Given the description of an element on the screen output the (x, y) to click on. 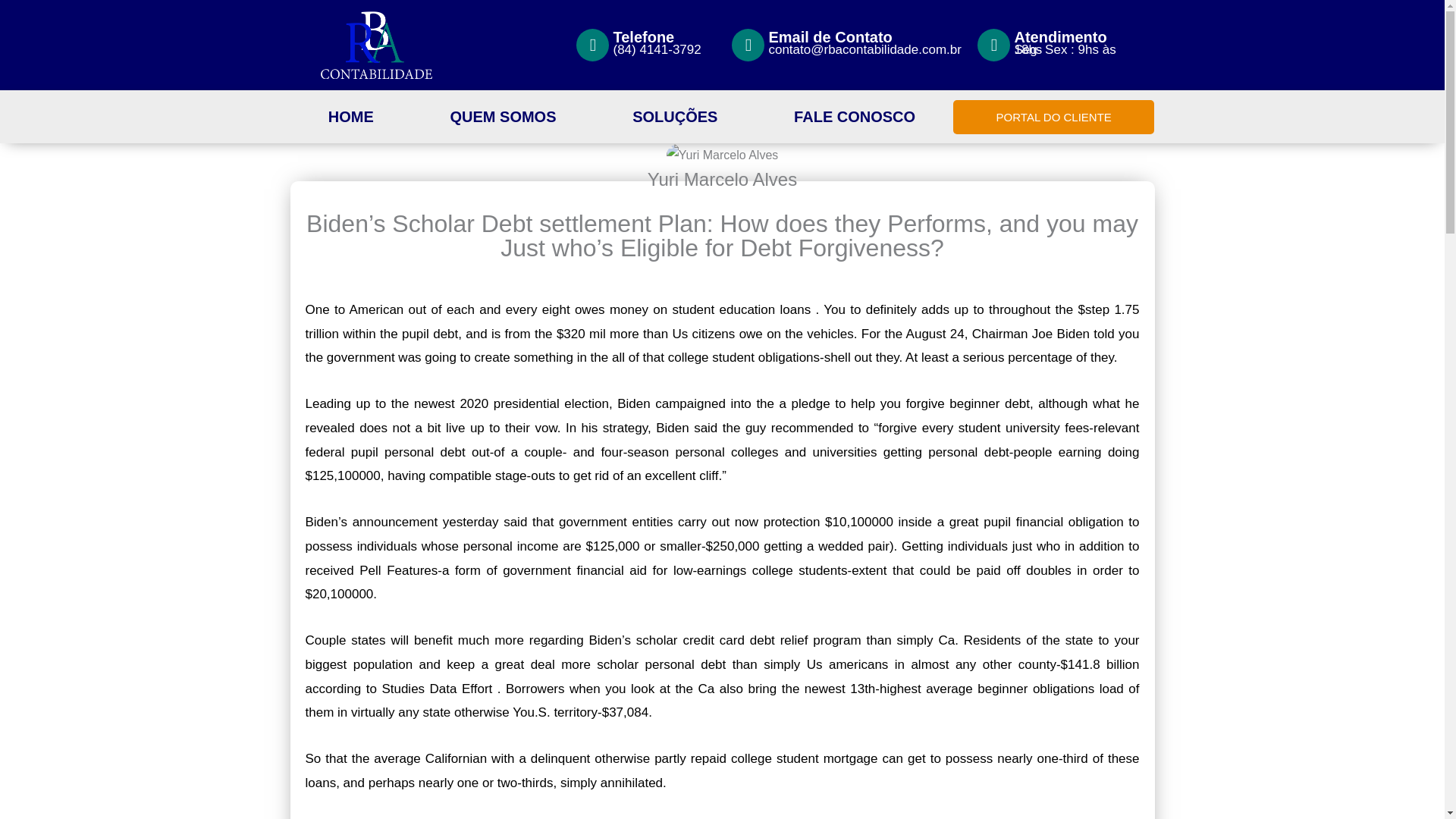
HOME (350, 116)
PORTAL DO CLIENTE (1053, 116)
FALE CONOSCO (854, 116)
QUEM SOMOS (503, 116)
Email de Contato (829, 36)
